Given the description of an element on the screen output the (x, y) to click on. 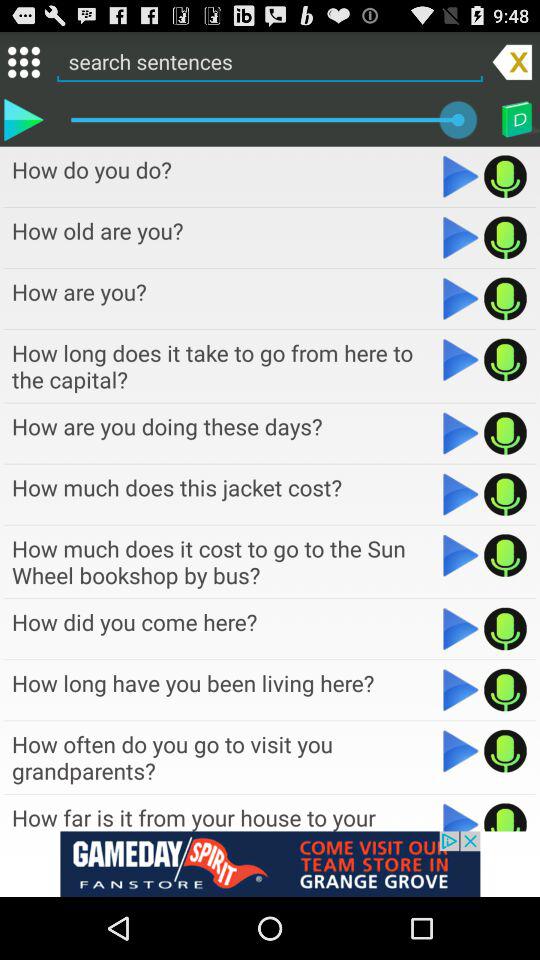
play option (505, 689)
